Given the description of an element on the screen output the (x, y) to click on. 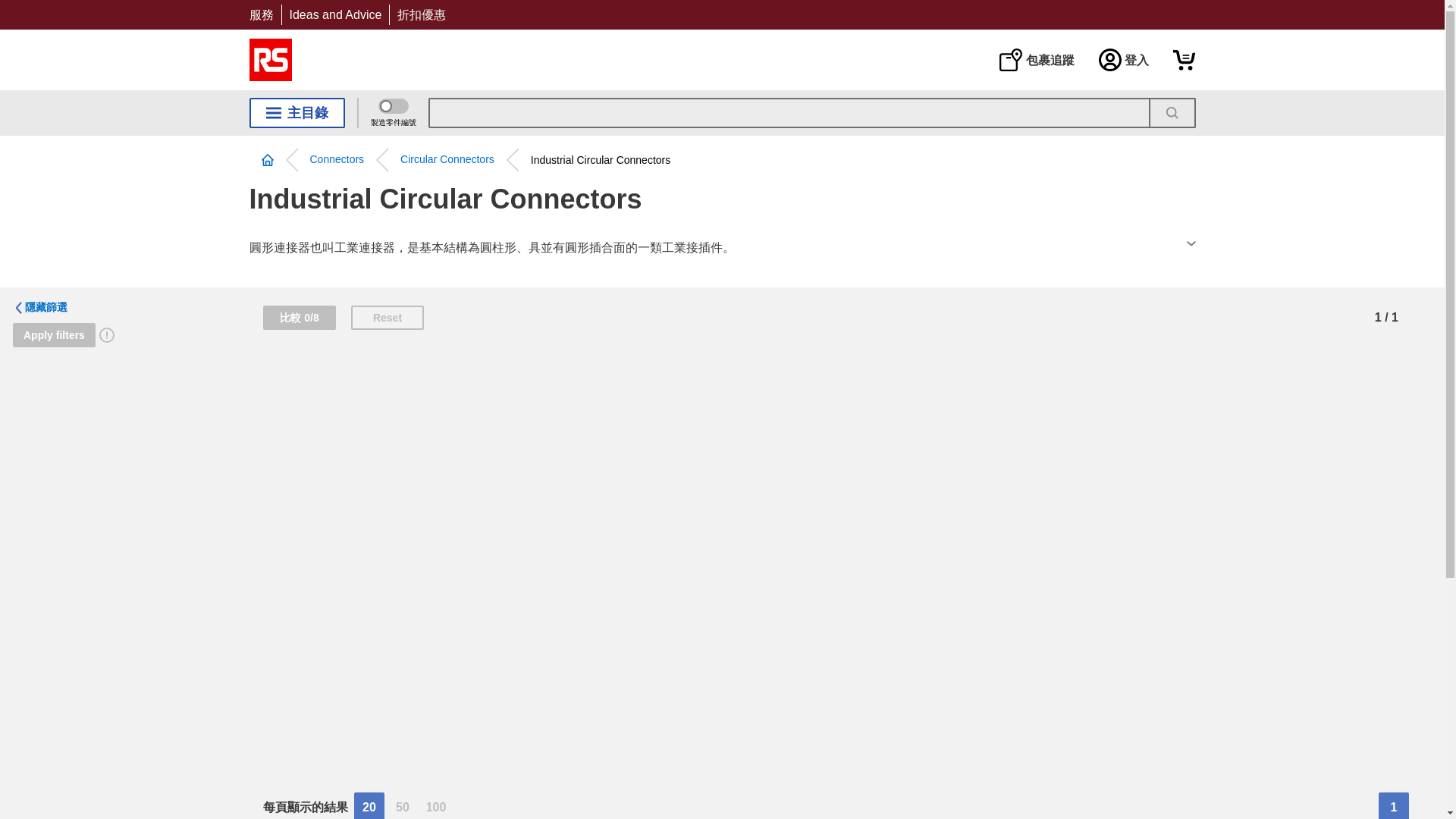
Ideas and Advice (335, 14)
